Given the description of an element on the screen output the (x, y) to click on. 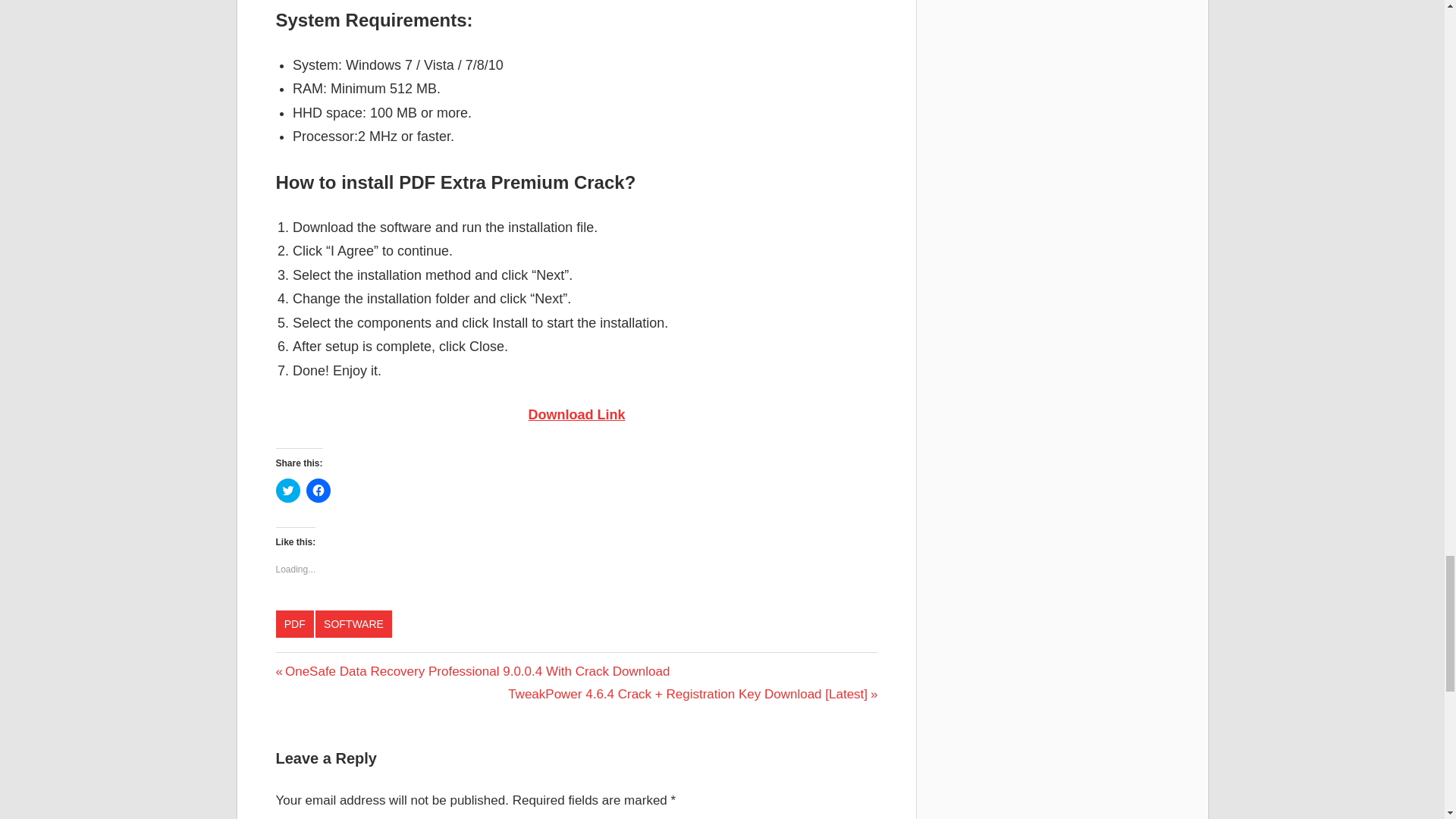
Click to share on Facebook (317, 490)
Click to share on Twitter (287, 490)
Download Link (575, 414)
